Given the description of an element on the screen output the (x, y) to click on. 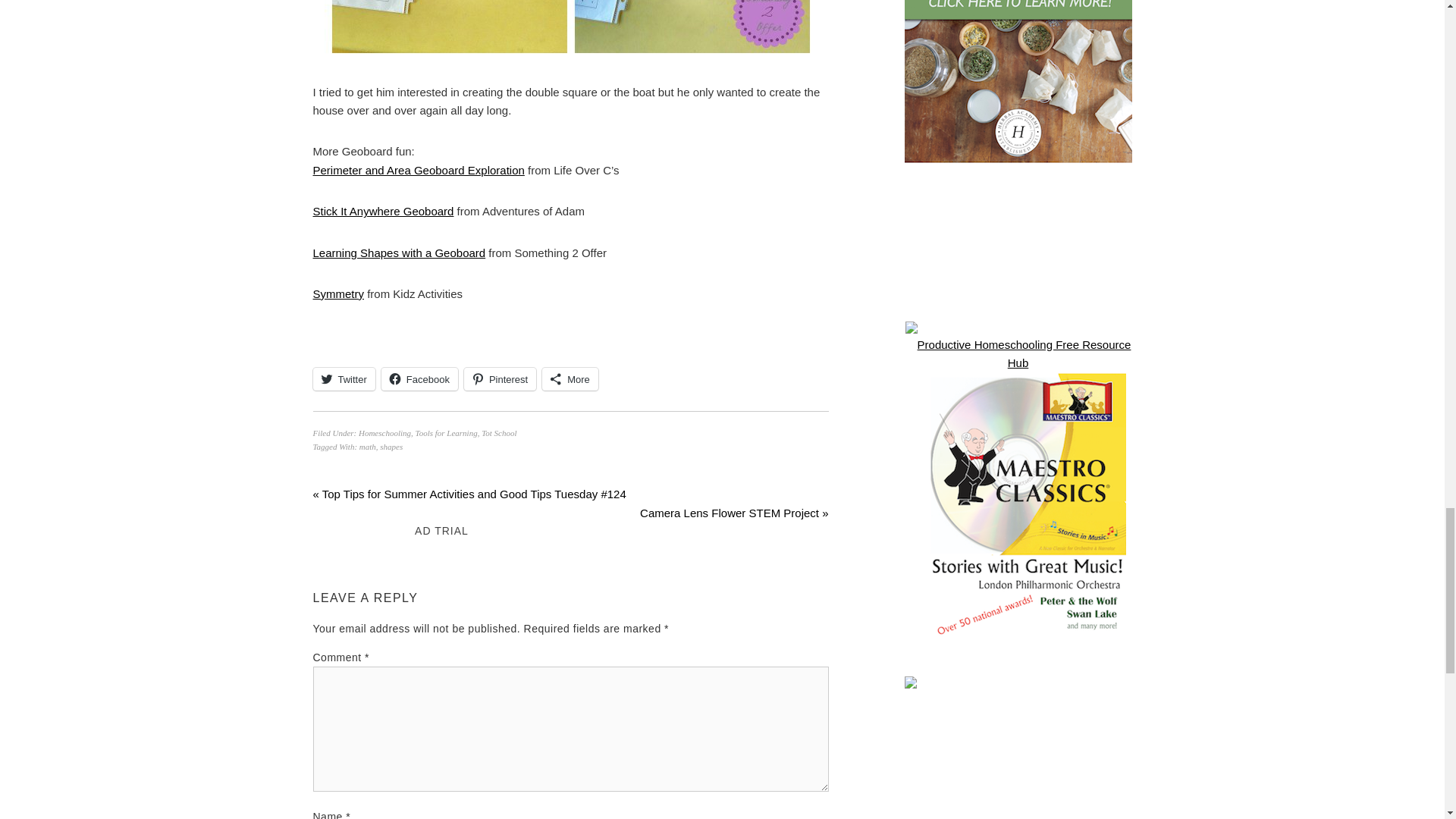
Click to share on Twitter (343, 378)
Click to share on Facebook (419, 378)
Click to share on Pinterest (499, 378)
